Given the description of an element on the screen output the (x, y) to click on. 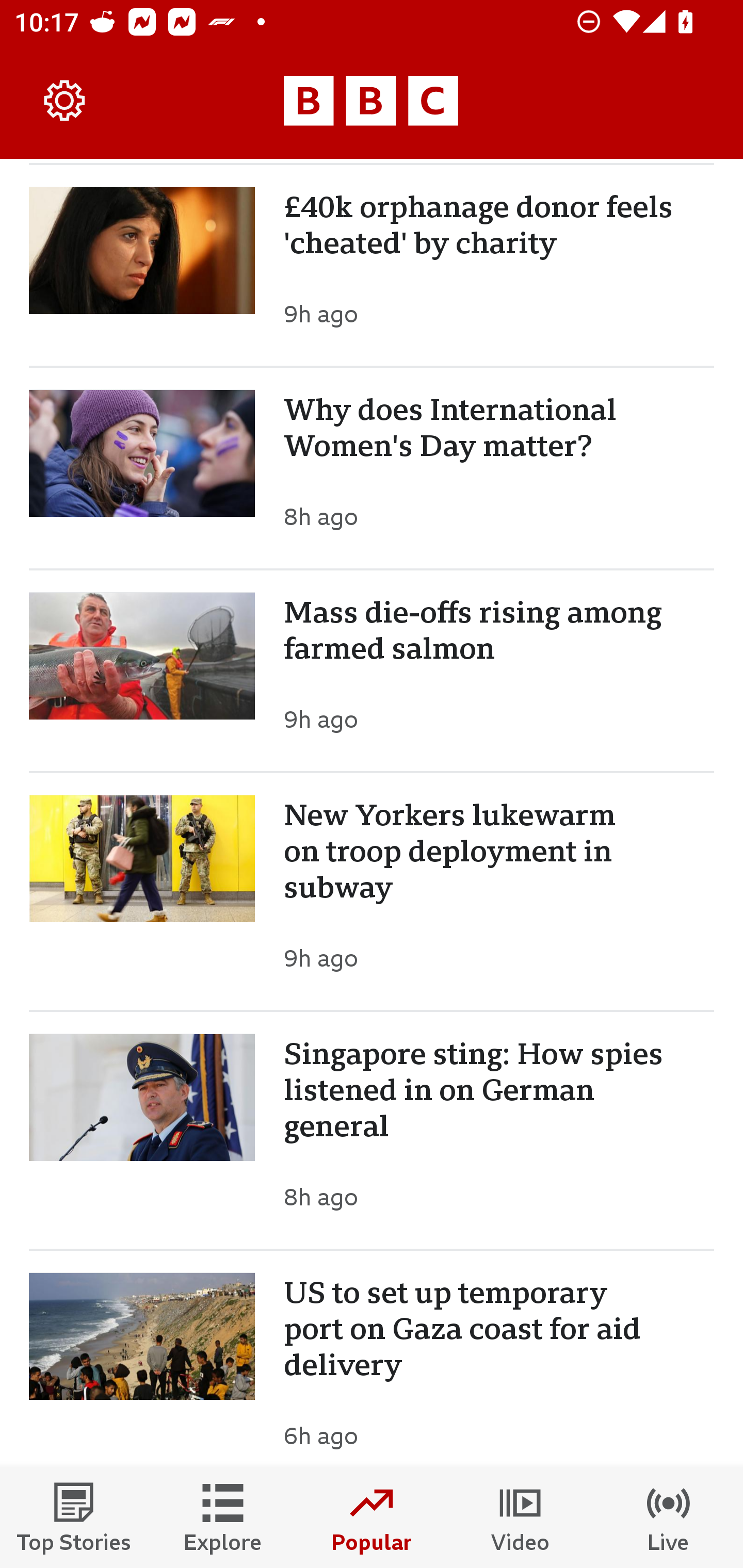
Settings (64, 100)
Top Stories (74, 1517)
Explore (222, 1517)
Video (519, 1517)
Live (668, 1517)
